Given the description of an element on the screen output the (x, y) to click on. 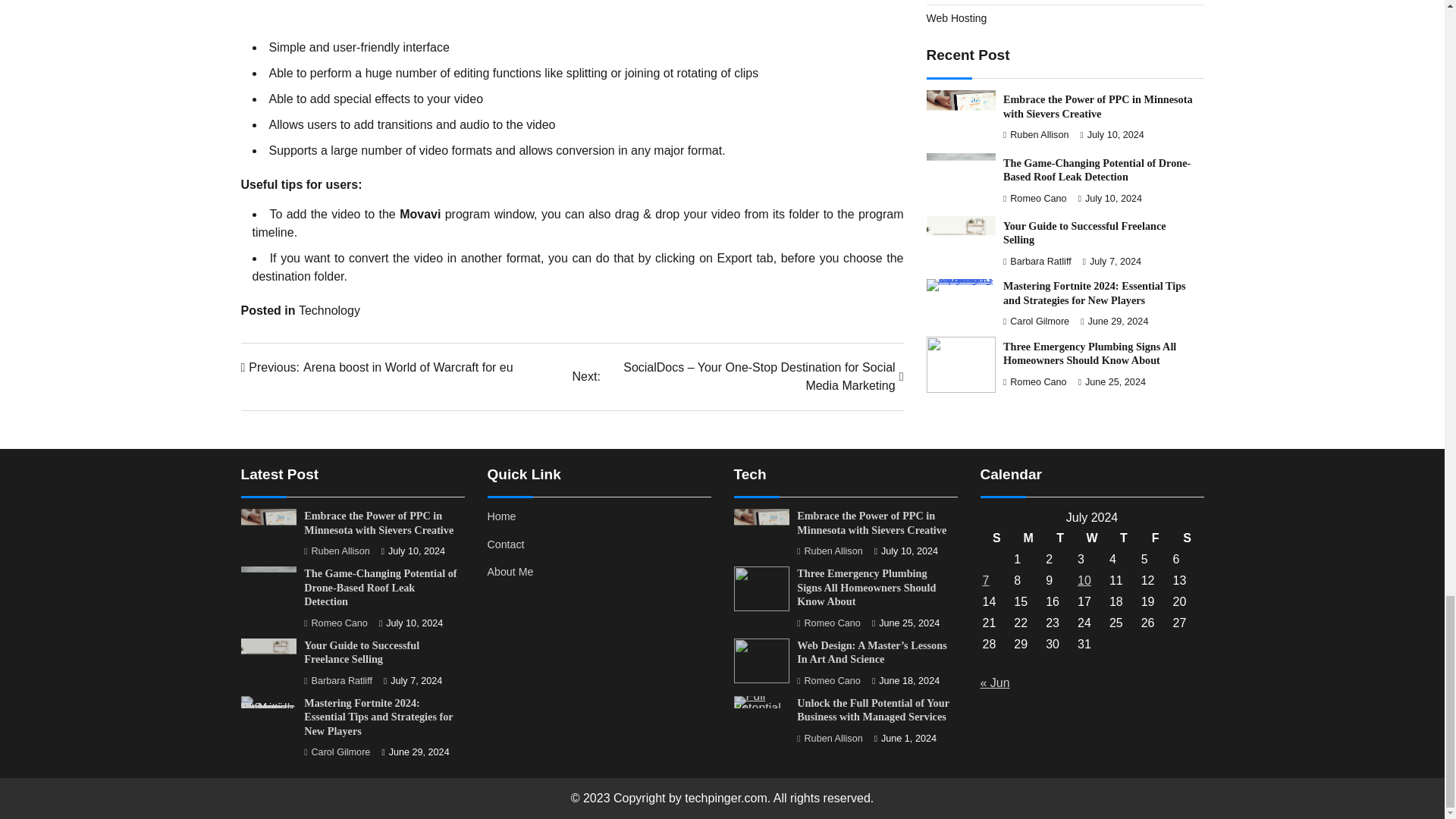
Technology (328, 309)
Thursday (1123, 537)
Friday (1155, 537)
Sunday (996, 537)
Tuesday (1060, 537)
Monday (1028, 537)
Saturday (1187, 537)
Wednesday (377, 367)
